Given the description of an element on the screen output the (x, y) to click on. 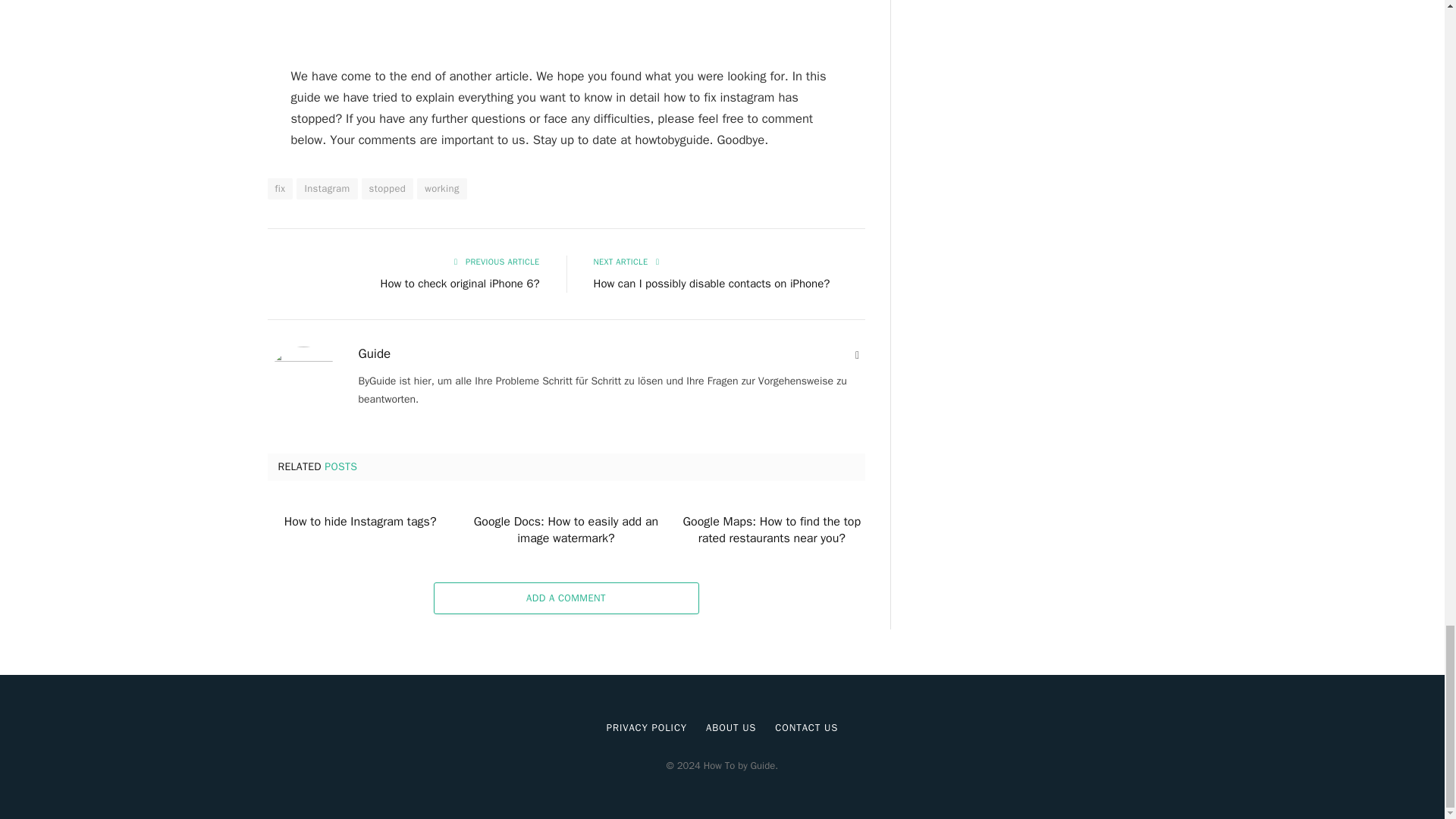
working (441, 188)
Website (856, 355)
fix (279, 188)
stopped (387, 188)
Posts by Guide (374, 353)
Instagram (326, 188)
